Given the description of an element on the screen output the (x, y) to click on. 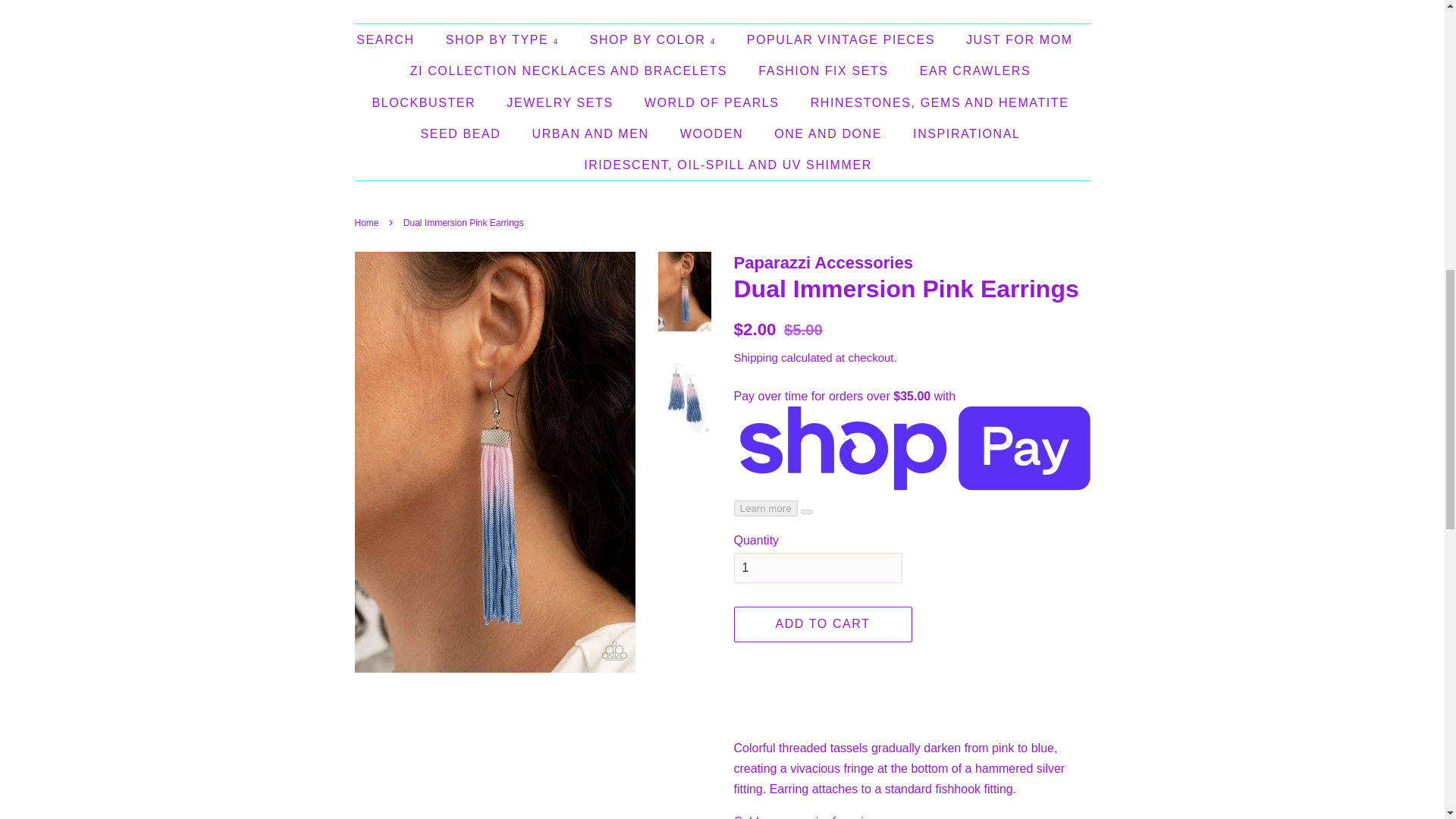
1 (817, 567)
Back to the frontpage (368, 222)
